Given the description of an element on the screen output the (x, y) to click on. 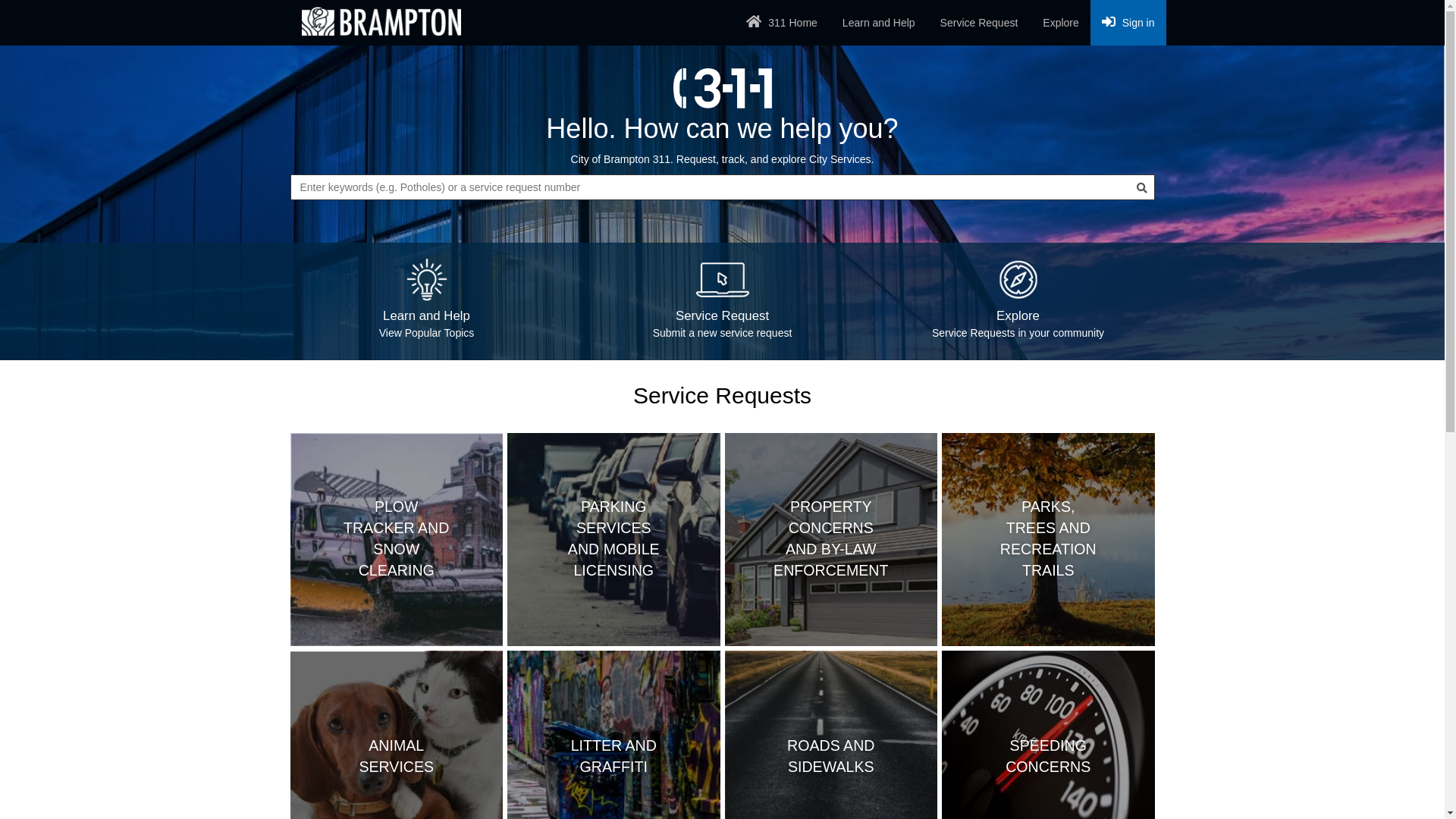
PLOW TRACKER AND SNOW CLEARING Element type: text (395, 539)
Learn and Help

View Popular Topics Element type: text (426, 301)
Sign in Element type: text (1128, 22)
Explore Element type: text (1060, 22)
Search Element type: hover (1141, 187)
Explore

Service Requests in your community Element type: text (1018, 301)
PARKS, TREES AND RECREATION TRAILS Element type: text (1047, 539)
Go back to Brampton.ca Element type: text (381, 21)
Service Request

Submit a new service request Element type: text (722, 301)
311 Home Element type: text (781, 22)
Learn and Help Element type: text (878, 22)
Service Request Element type: text (978, 22)
PROPERTY CONCERNS AND BY-LAW ENFORCEMENT Element type: text (831, 539)
PARKING SERVICES AND MOBILE LICENSING Element type: text (613, 539)
